Given the description of an element on the screen output the (x, y) to click on. 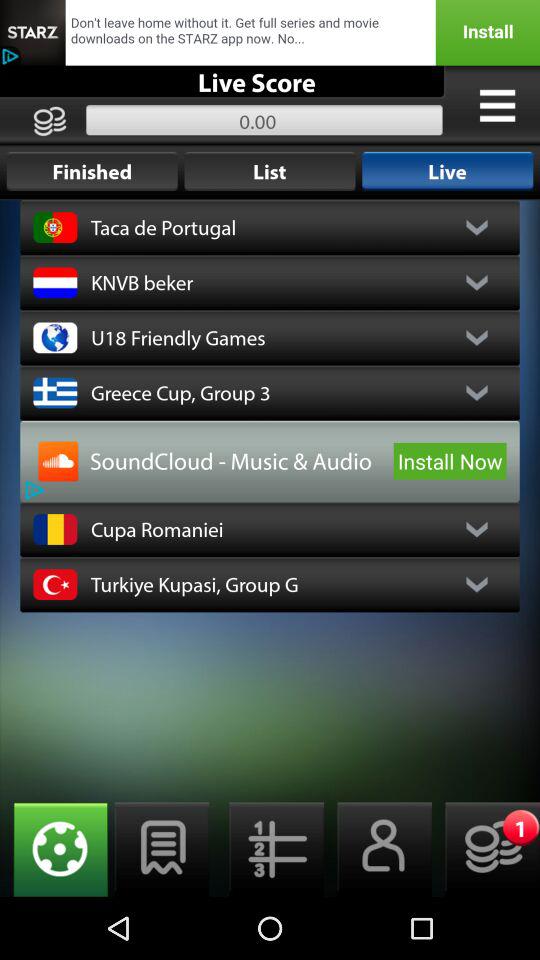
share the article (270, 32)
